Given the description of an element on the screen output the (x, y) to click on. 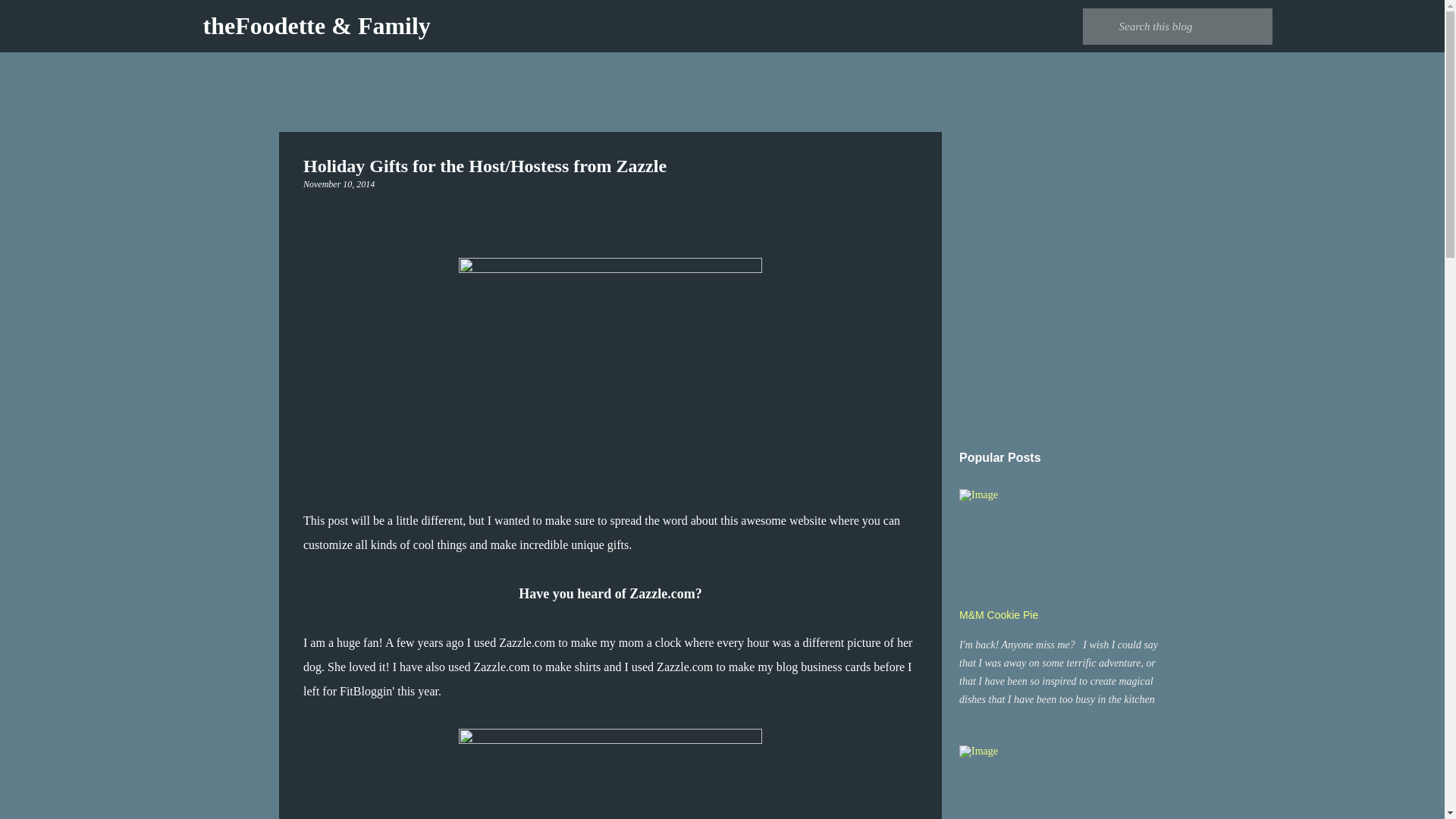
permanent link (338, 184)
November 10, 2014 (338, 184)
Zazzle.com (501, 666)
Zazzle.com (684, 666)
Zazzle.com (526, 642)
Zazzle.com (661, 593)
